Given the description of an element on the screen output the (x, y) to click on. 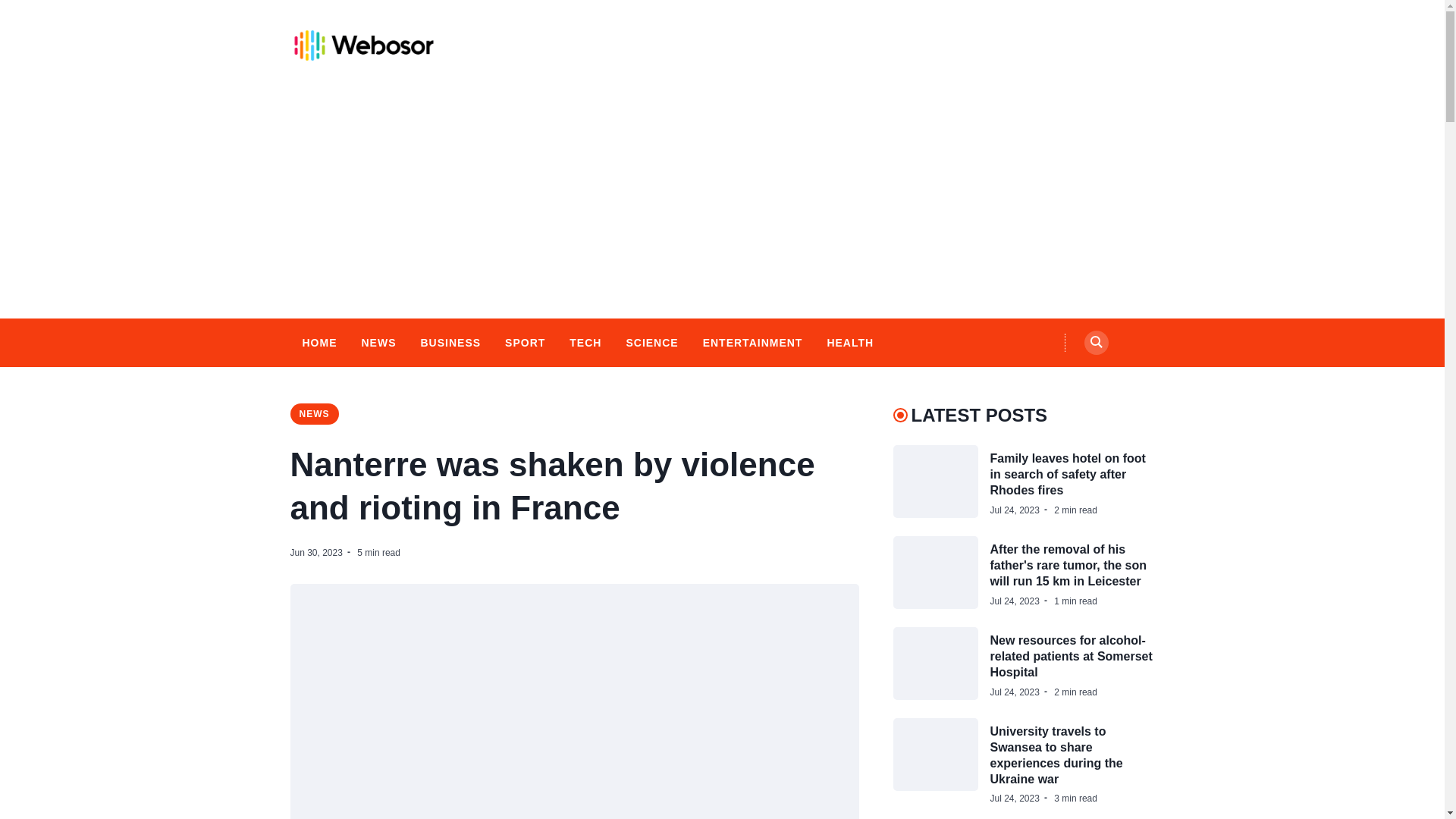
BUSINESS (449, 342)
HOME (318, 342)
HEALTH (850, 342)
SPORT (525, 342)
NEWS (378, 342)
SCIENCE (652, 342)
TECH (585, 342)
ENTERTAINMENT (753, 342)
NEWS (313, 414)
